Given the description of an element on the screen output the (x, y) to click on. 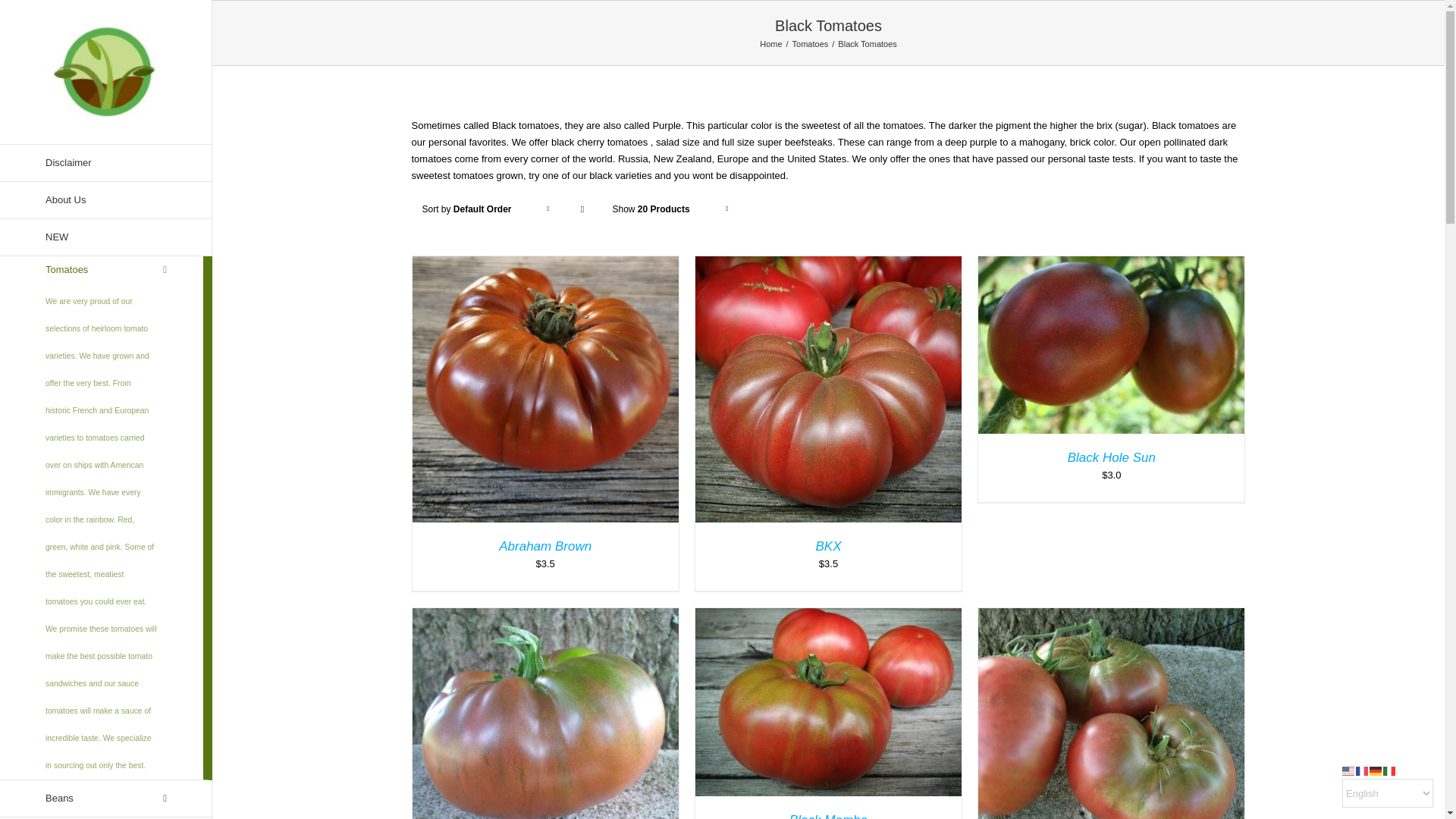
Beans (106, 798)
Italiano (1389, 769)
NEW (106, 237)
About Us (106, 200)
Deutsch (1376, 769)
Disclaimer (106, 162)
English (1348, 769)
